Given the description of an element on the screen output the (x, y) to click on. 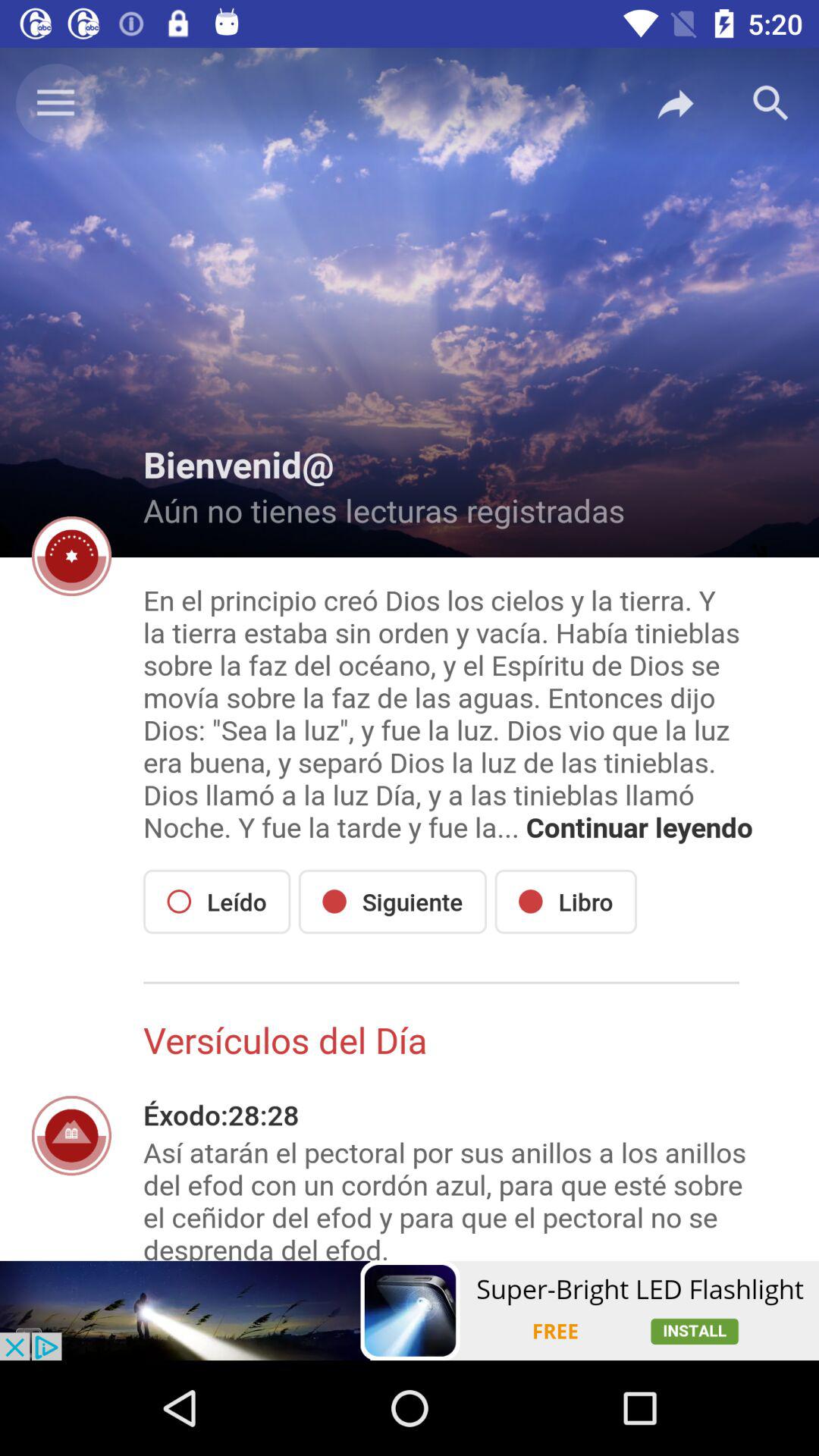
open item next to siguiente item (565, 901)
